Given the description of an element on the screen output the (x, y) to click on. 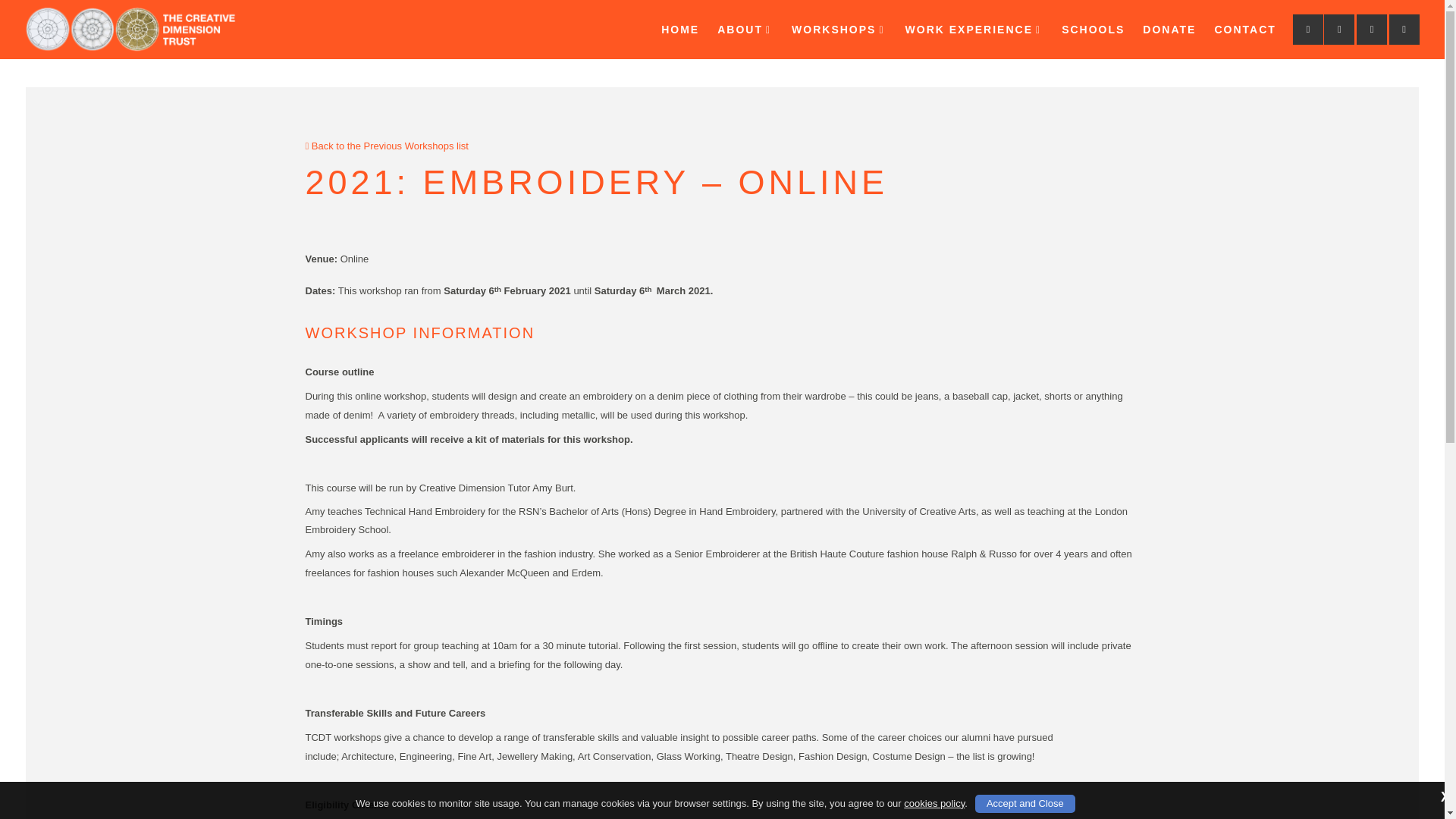
CONTACT (1244, 29)
Back to the Previous Workshops list (386, 145)
HOME (679, 29)
DONATE (1169, 29)
WORKSHOPS (839, 29)
WORK EXPERIENCE (974, 29)
ABOUT (745, 29)
SCHOOLS (1093, 29)
